Given the description of an element on the screen output the (x, y) to click on. 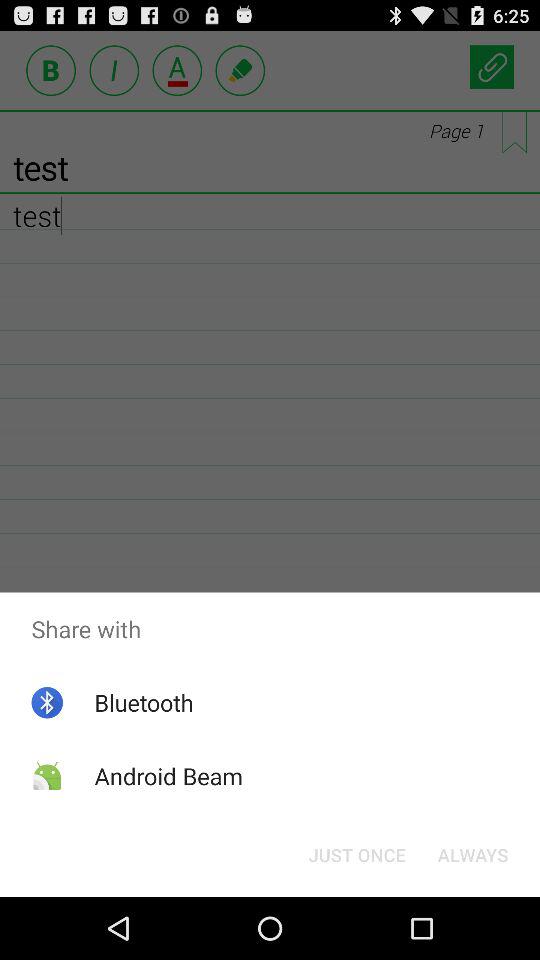
select icon next to the always item (356, 854)
